Given the description of an element on the screen output the (x, y) to click on. 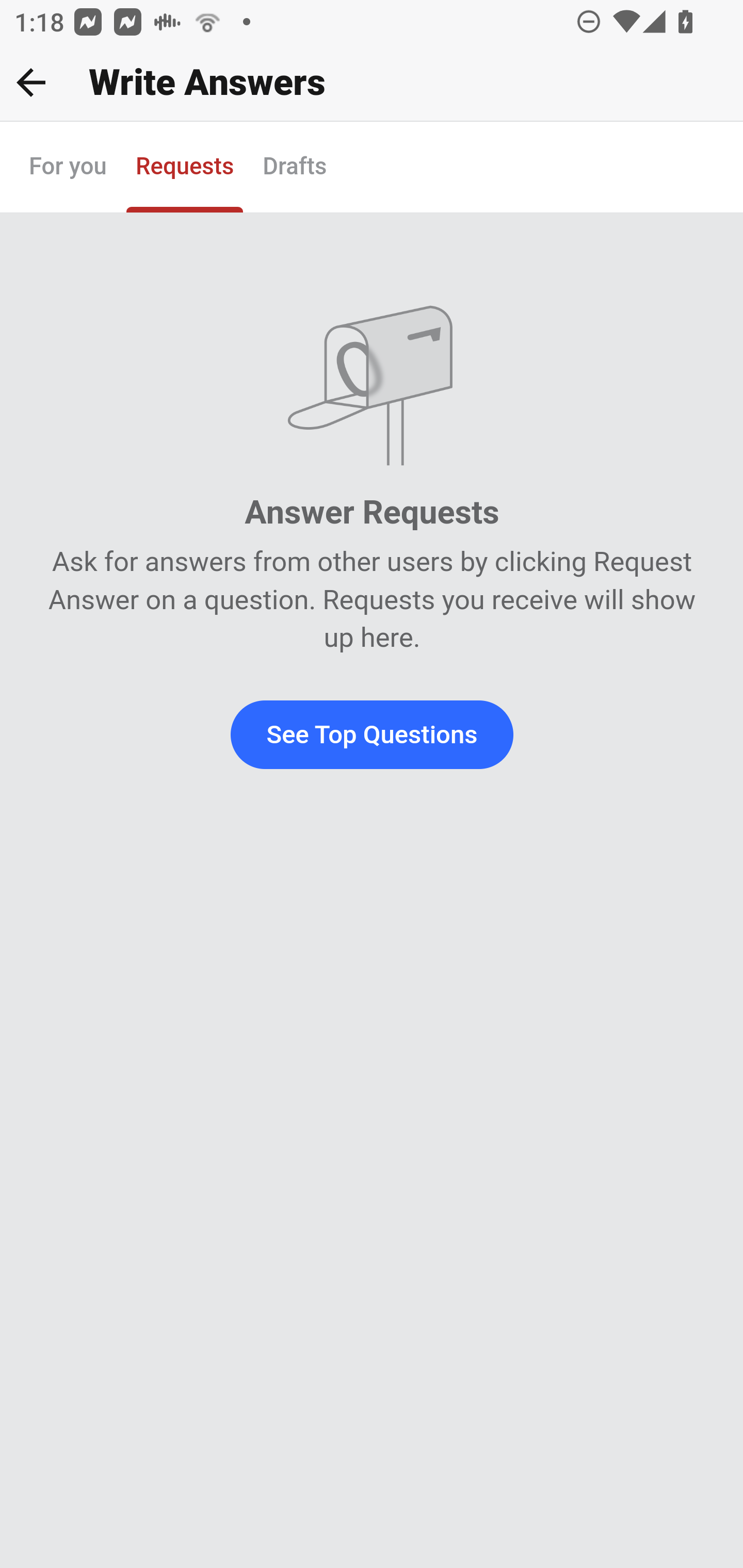
Back (30, 82)
For you (68, 167)
Requests (183, 167)
Drafts (295, 167)
See Top Questions (371, 734)
